Given the description of an element on the screen output the (x, y) to click on. 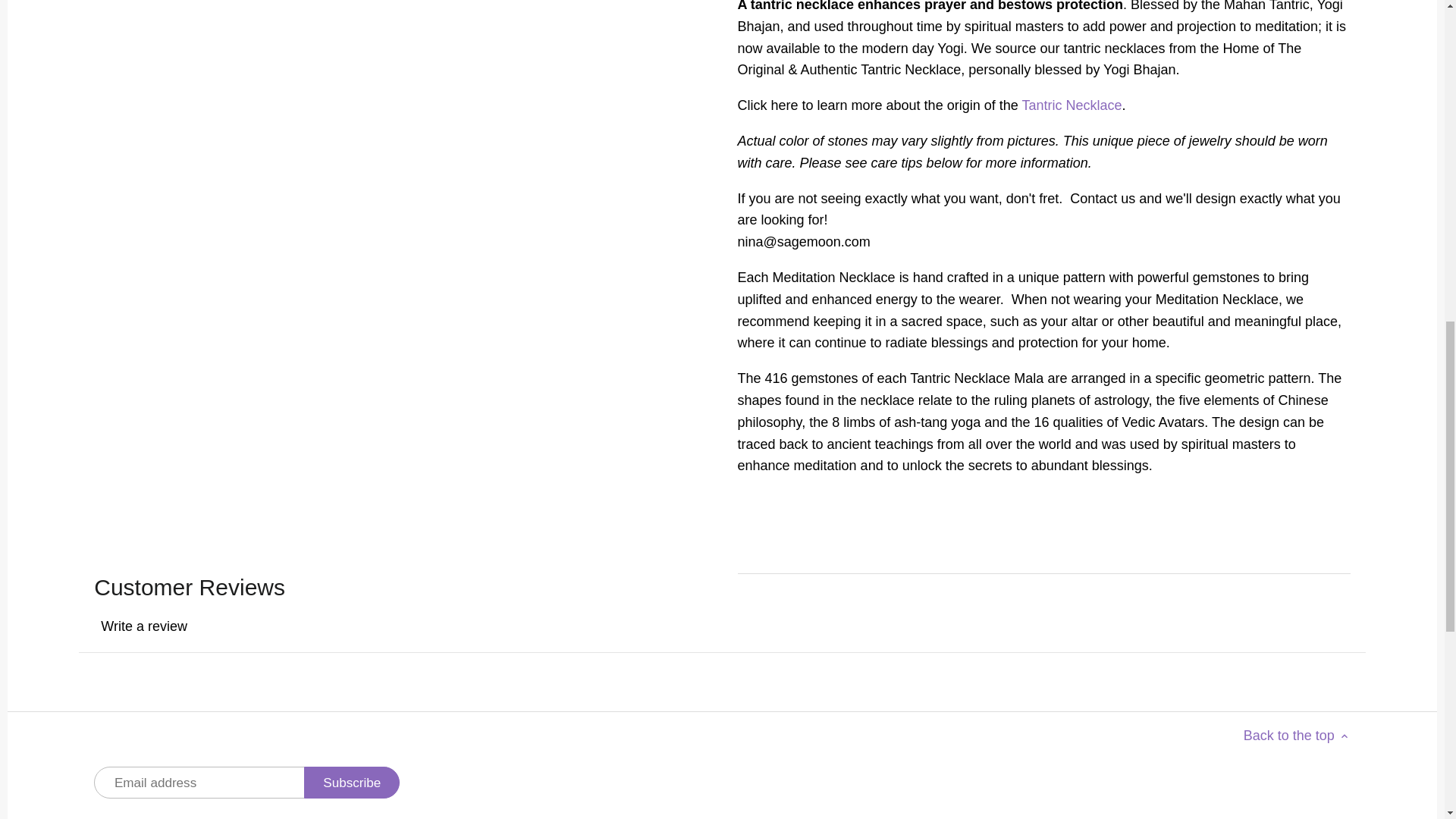
Subscribe (351, 782)
Tantric Necklace (1071, 105)
